Given the description of an element on the screen output the (x, y) to click on. 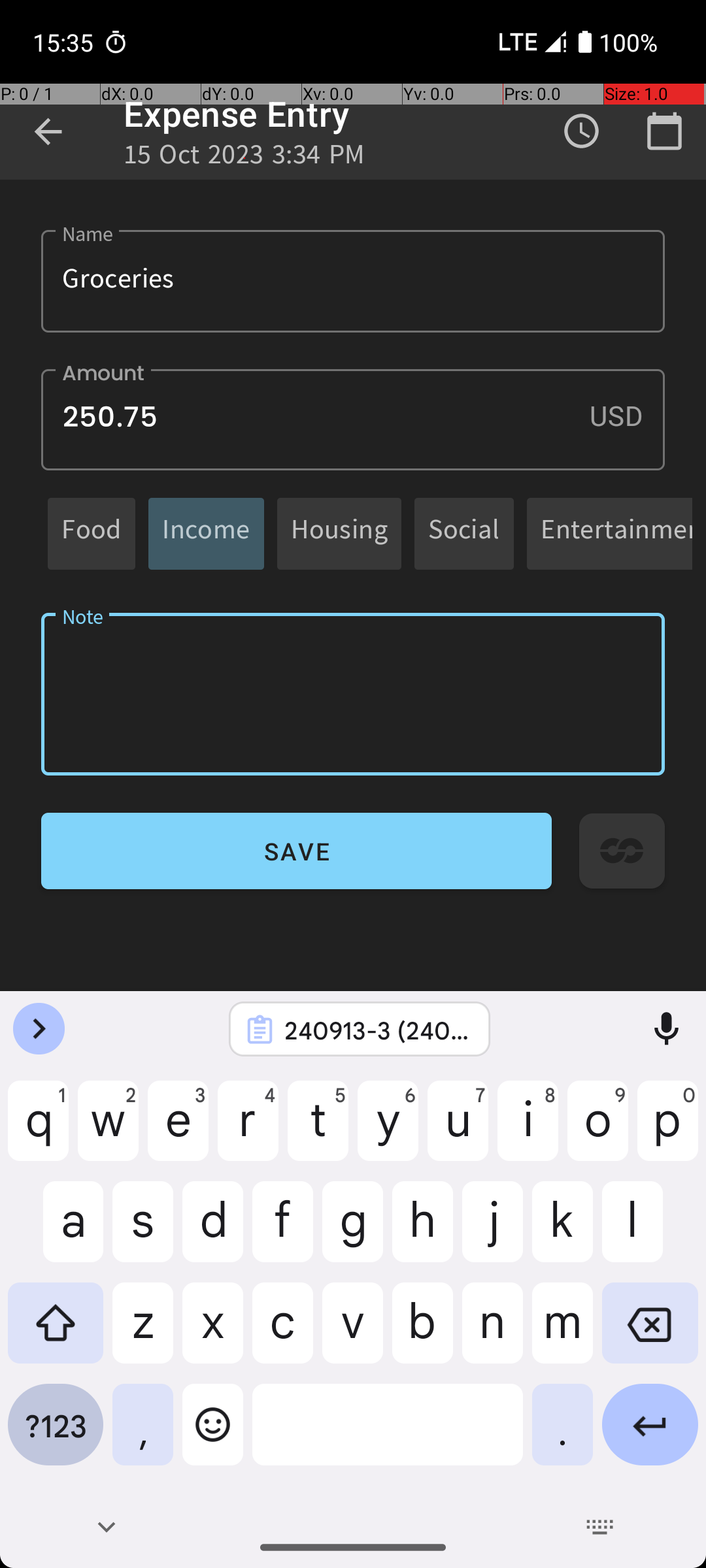
Groceries Element type: android.widget.EditText (352, 280)
250.75 Element type: android.widget.EditText (352, 419)
240913-3 (240906-2的from base对照组) Element type: android.widget.TextView (376, 1029)
